Given the description of an element on the screen output the (x, y) to click on. 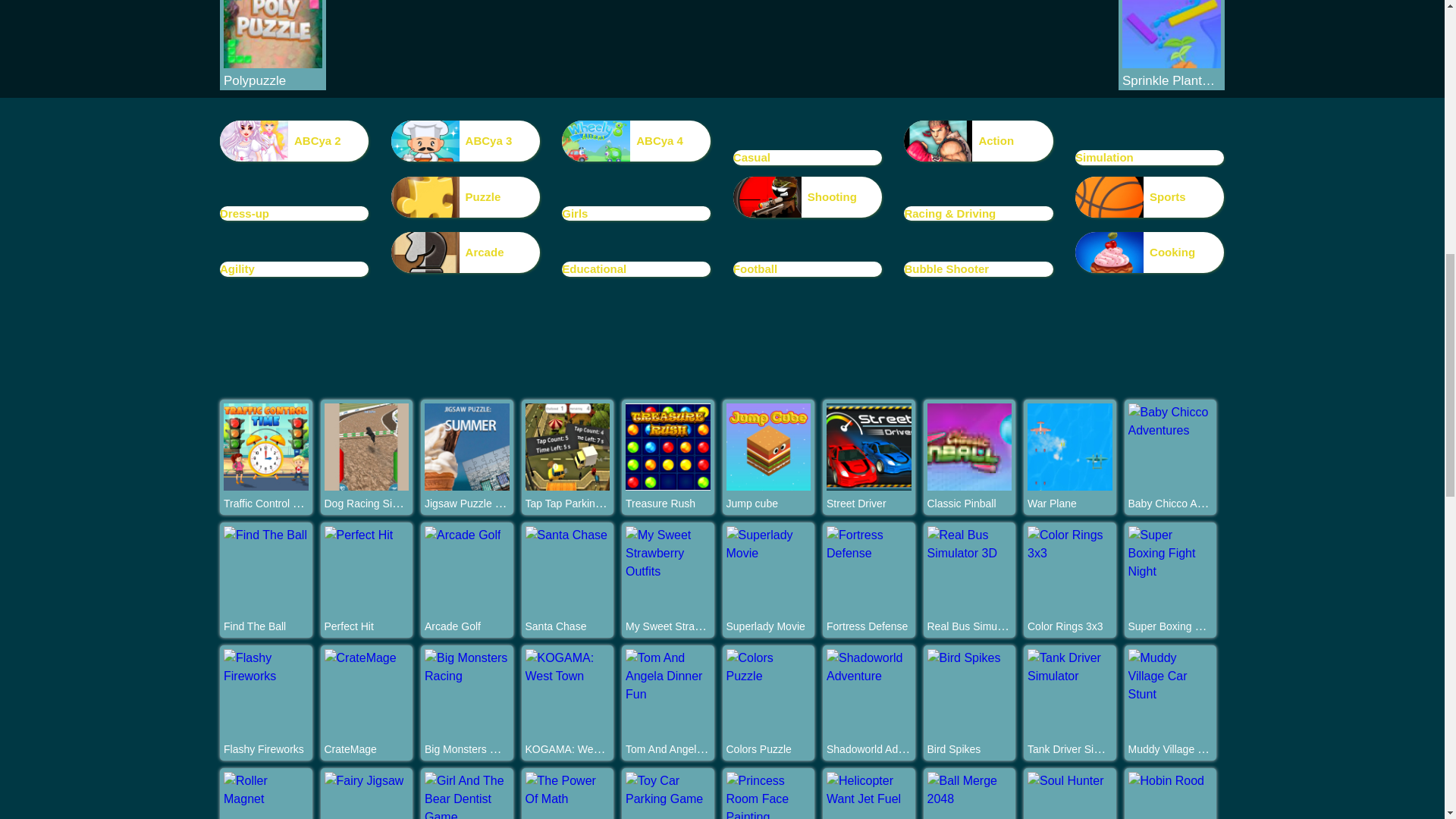
Polypuzzle (272, 80)
